Given the description of an element on the screen output the (x, y) to click on. 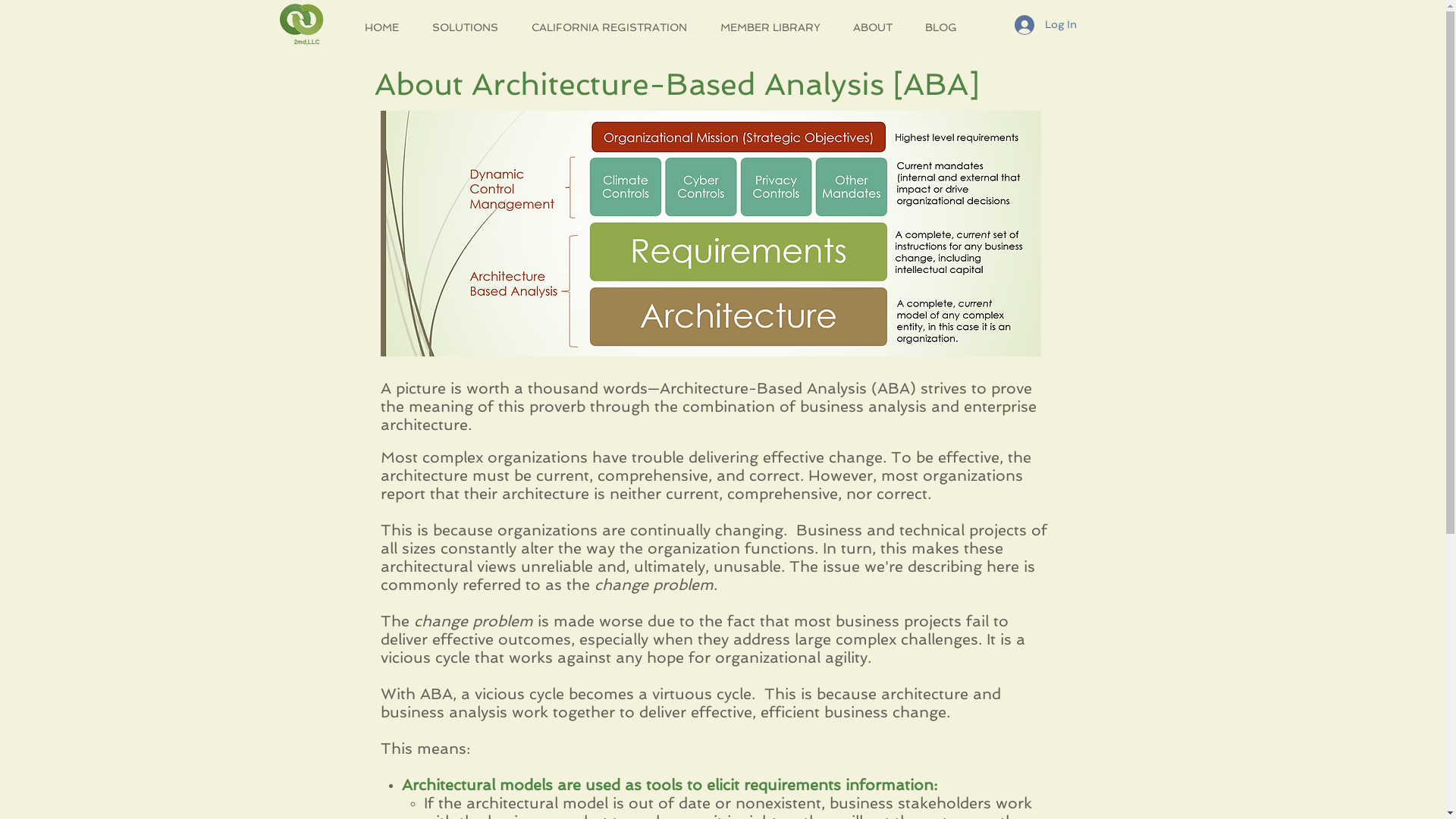
Logo transparent.png Element type: hover (301, 26)
Log In Element type: text (1045, 24)
SOLUTIONS Element type: text (469, 26)
ABOUT Element type: text (877, 26)
MEMBER LIBRARY Element type: text (774, 26)
ABA DCM Stack.png Element type: hover (710, 233)
CALIFORNIA REGISTRATION Element type: text (614, 26)
HOME Element type: text (386, 26)
BLOG Element type: text (945, 26)
